Given the description of an element on the screen output the (x, y) to click on. 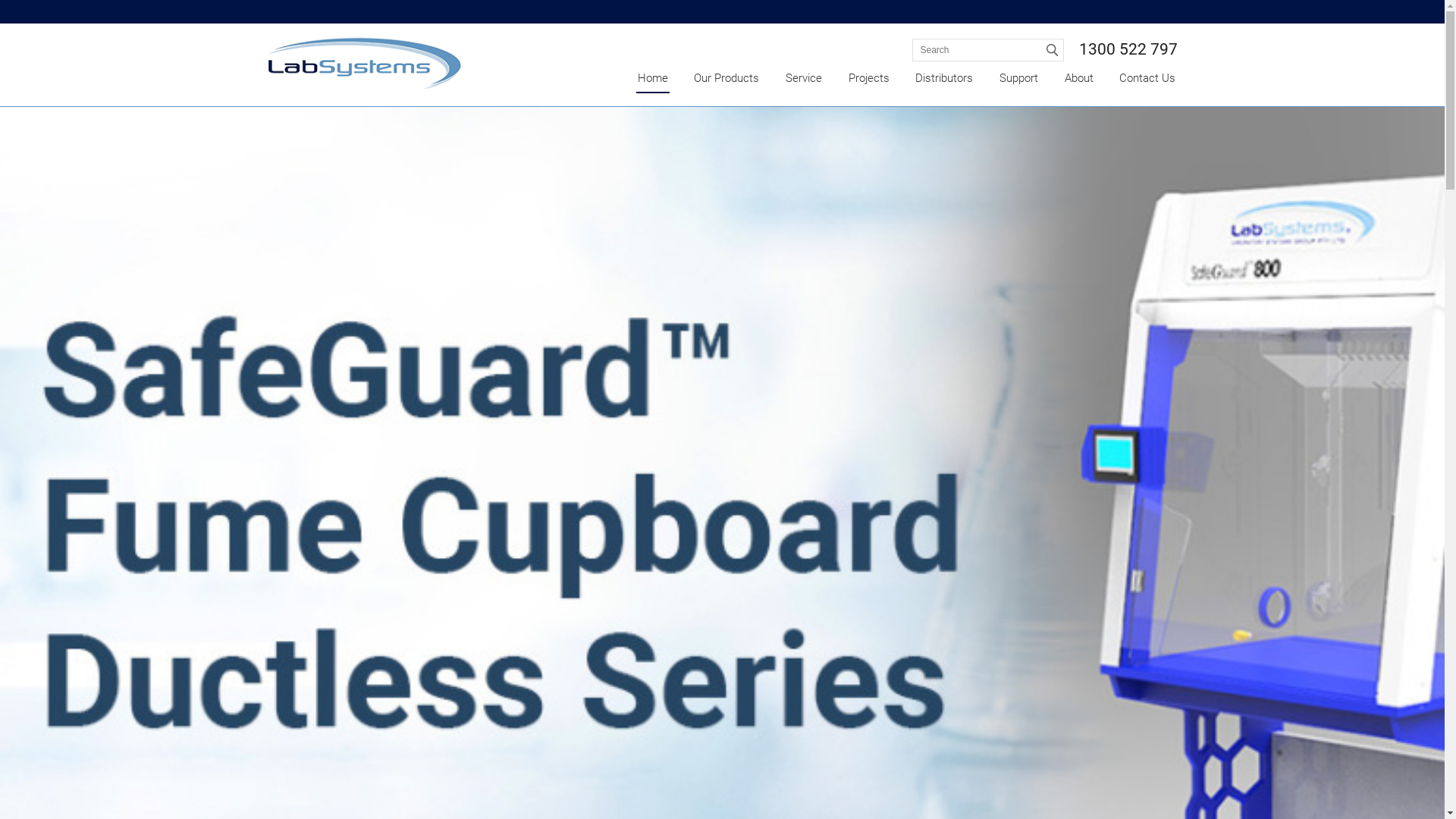
Our Products Element type: text (726, 78)
Support Element type: text (1018, 78)
Distributors Element type: text (943, 78)
Service Element type: text (803, 78)
1300 522 797 Element type: text (1127, 49)
About Element type: text (1079, 78)
Home Element type: text (651, 78)
Contact Us Element type: text (1146, 78)
Projects Element type: text (869, 78)
